Given the description of an element on the screen output the (x, y) to click on. 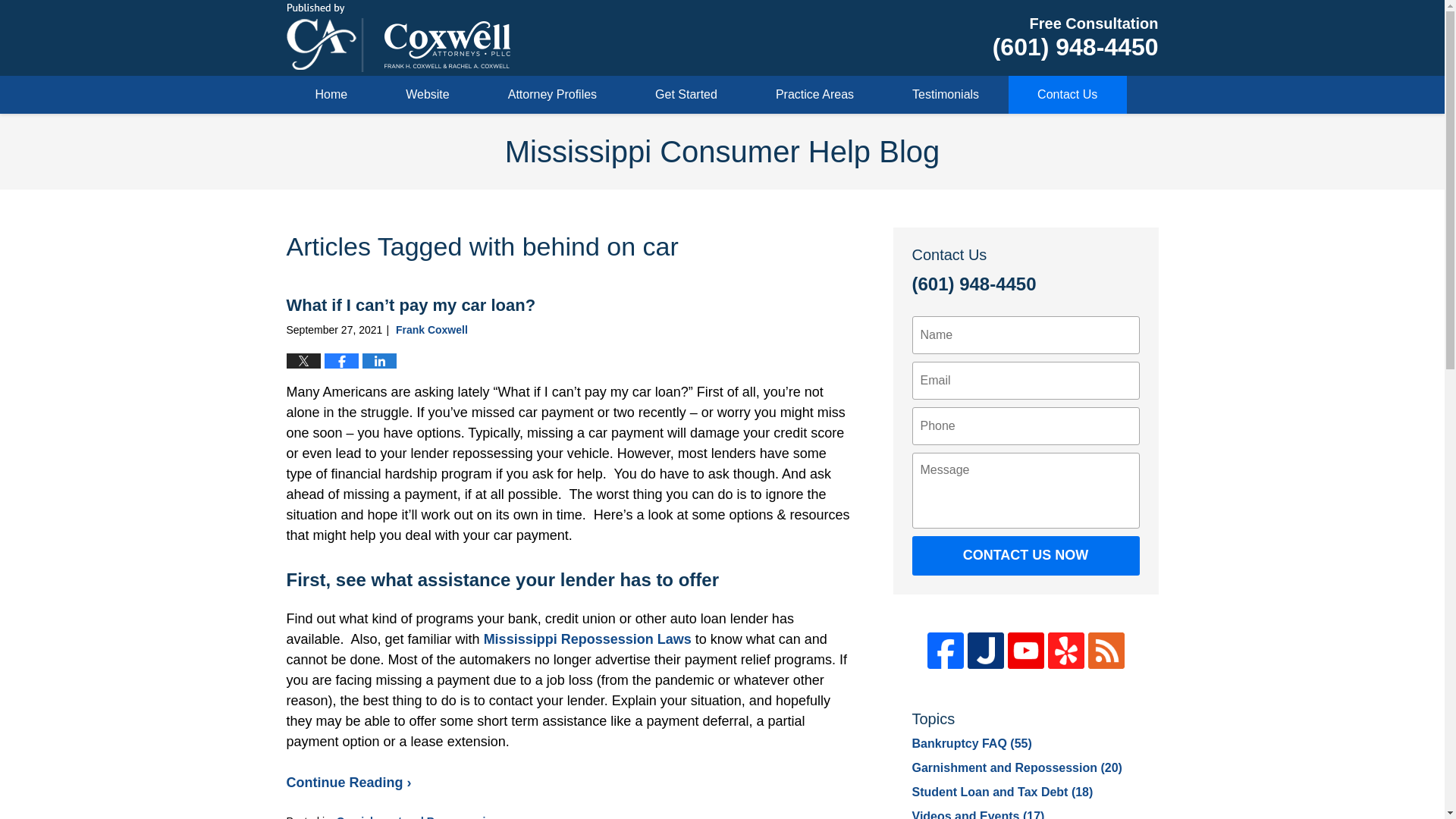
Home (331, 94)
Practice Areas (814, 94)
Mississippi Consumer Help Blog (398, 38)
YouTube (1025, 650)
Frank Coxwell (431, 329)
Facebook (944, 650)
Testimonials (946, 94)
Get Started (686, 94)
Contact Us (1067, 94)
Yelp (1066, 650)
Attorney Profiles (552, 94)
Garnishment and Repossession (417, 816)
Mississippi Repossession Laws (587, 639)
Feed (1105, 650)
Website (428, 94)
